Given the description of an element on the screen output the (x, y) to click on. 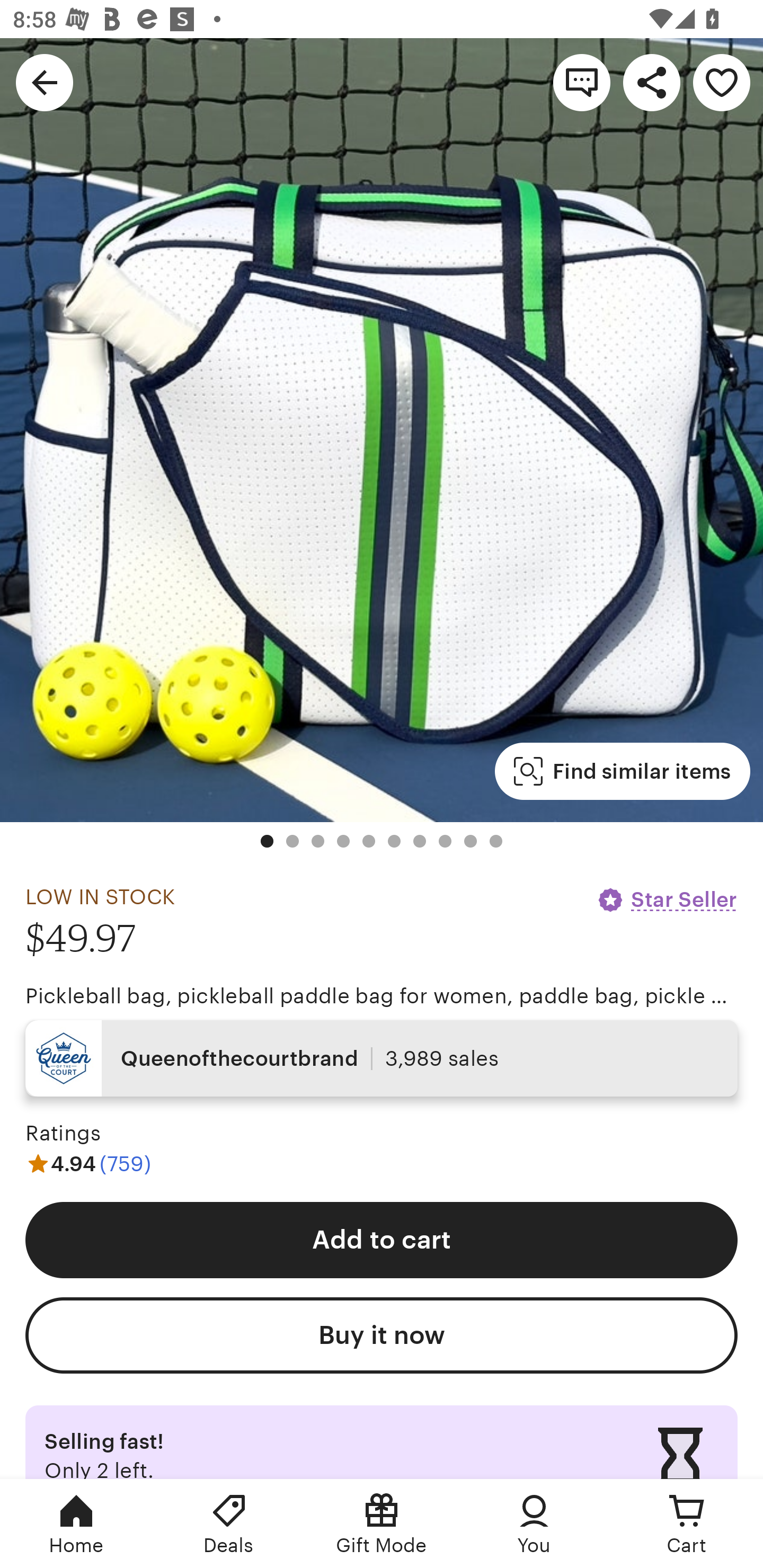
Navigate up (44, 81)
Contact shop (581, 81)
Share (651, 81)
Find similar items (622, 771)
Star Seller (666, 899)
Queenofthecourtbrand 3,989 sales (381, 1058)
Ratings (62, 1133)
4.94 (759) (88, 1163)
Add to cart (381, 1239)
Buy it now (381, 1334)
Deals (228, 1523)
Gift Mode (381, 1523)
You (533, 1523)
Cart (686, 1523)
